Given the description of an element on the screen output the (x, y) to click on. 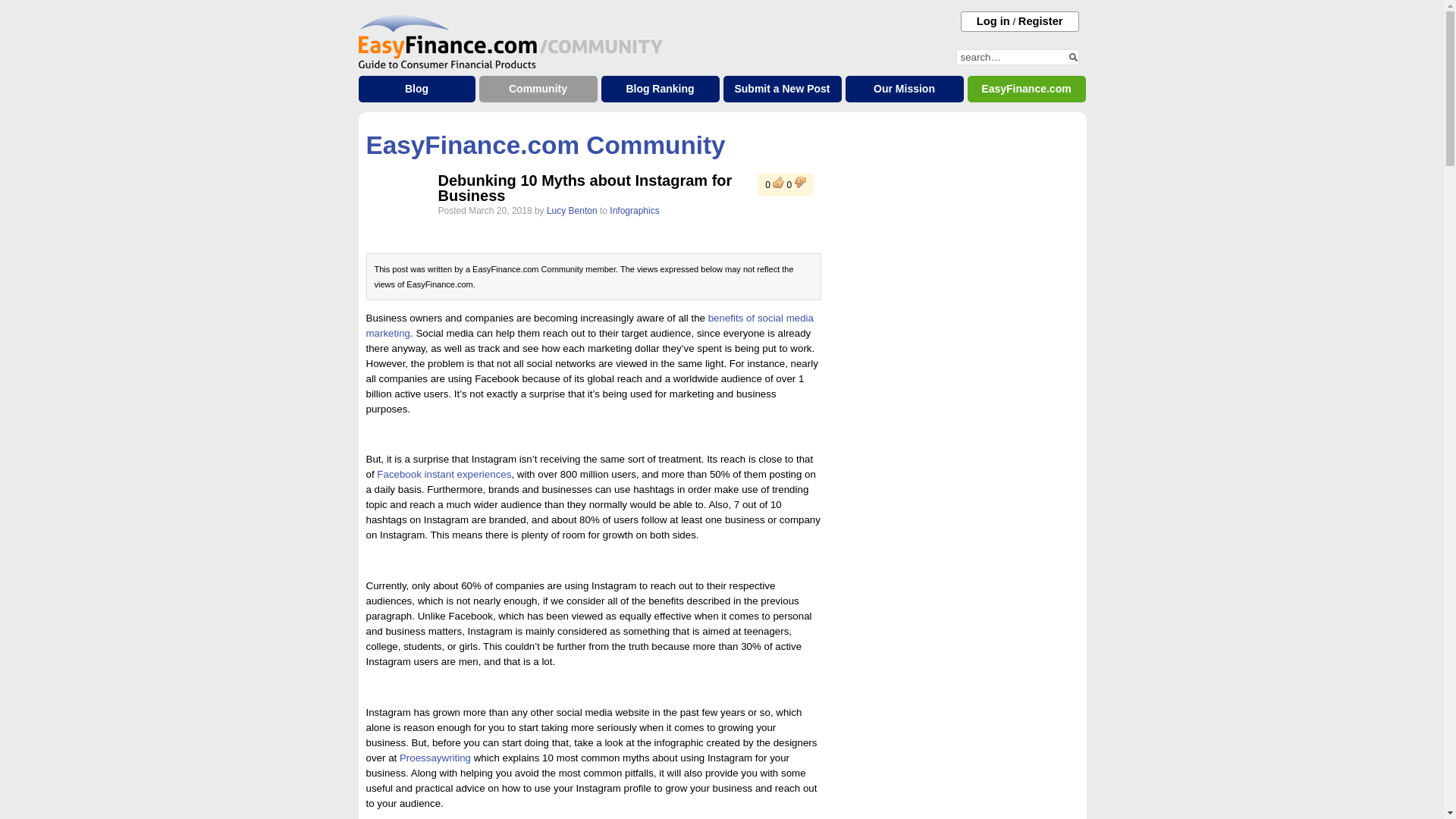
Facebook instant experiences (444, 473)
Blog Ranking (659, 89)
Blog (416, 89)
Lucy Benton (571, 210)
Infographics (634, 210)
Community (537, 89)
Proessaywriting (434, 757)
